Given the description of an element on the screen output the (x, y) to click on. 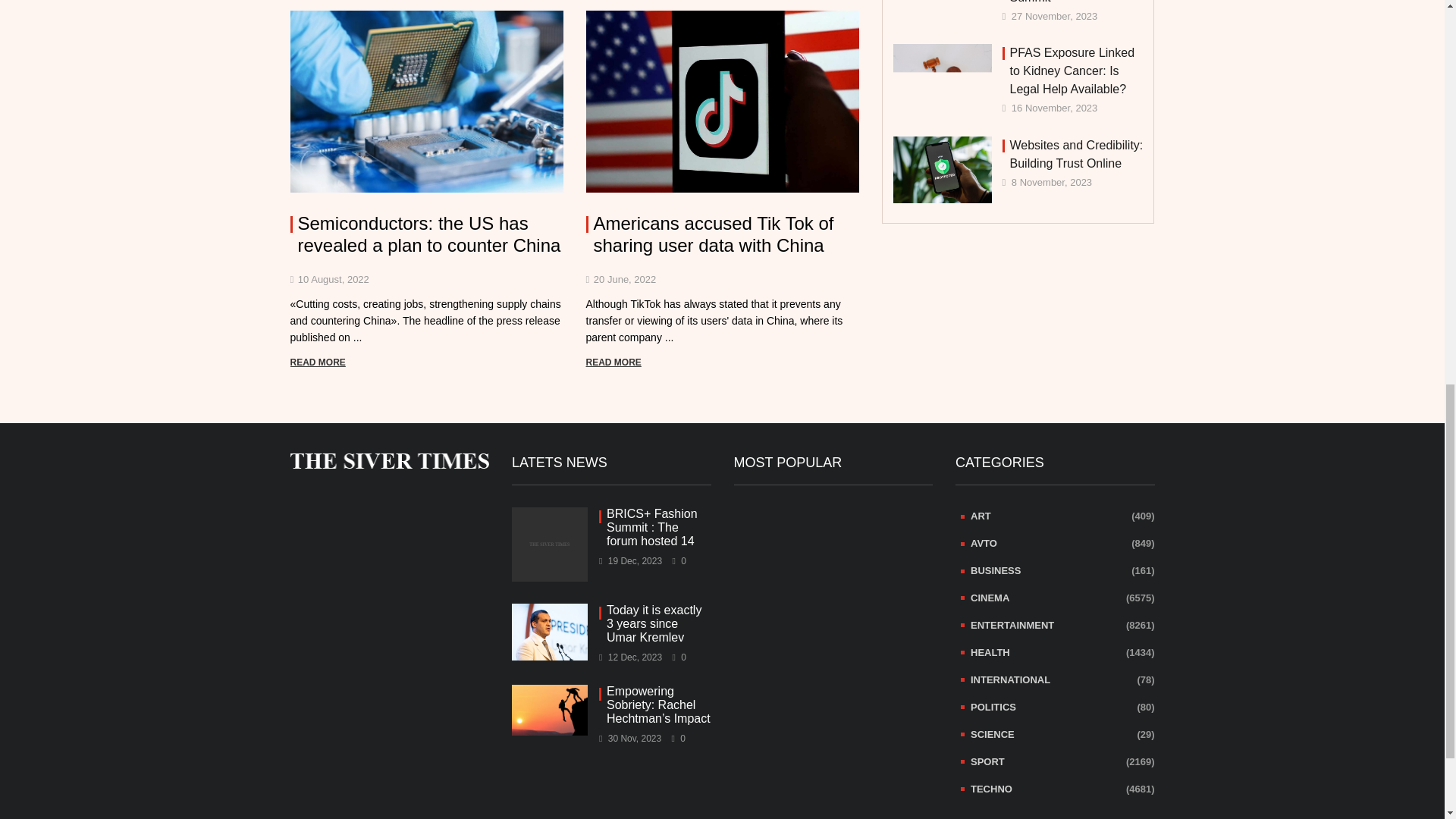
READ MORE (612, 362)
Americans accused Tik Tok of sharing user data with China (722, 234)
READ MORE (317, 362)
Semiconductors: the US has revealed a plan to counter China (425, 234)
